Given the description of an element on the screen output the (x, y) to click on. 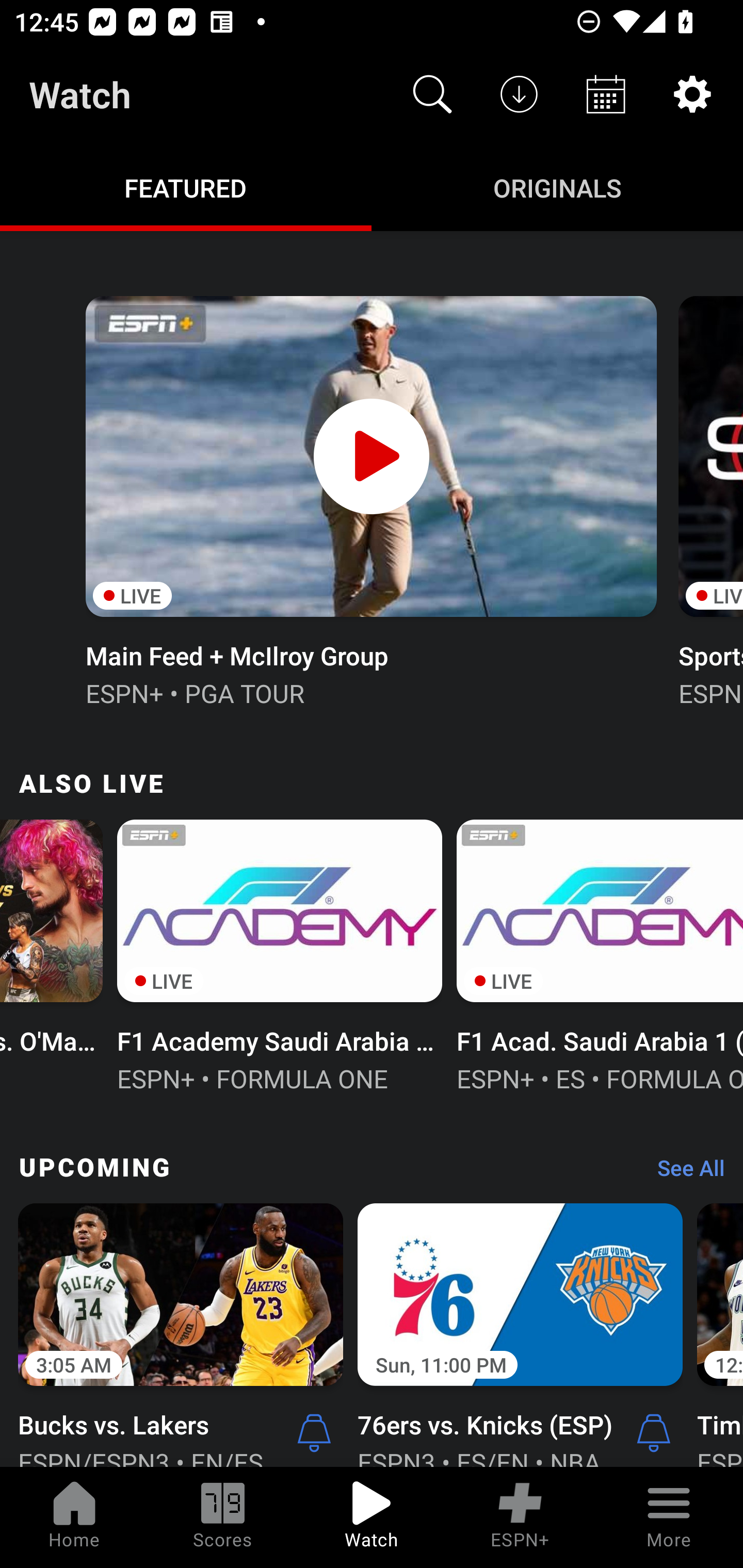
Search (432, 93)
Downloads (518, 93)
Schedule (605, 93)
Settings (692, 93)
Originals ORIGINALS (557, 187)
 LIVE Main Feed + McIlroy Group ESPN+ • PGA TOUR (370, 499)
See All (683, 1172)
Alerts (314, 1432)
Alerts (653, 1432)
Home (74, 1517)
Scores (222, 1517)
ESPN+ (519, 1517)
More (668, 1517)
